Given the description of an element on the screen output the (x, y) to click on. 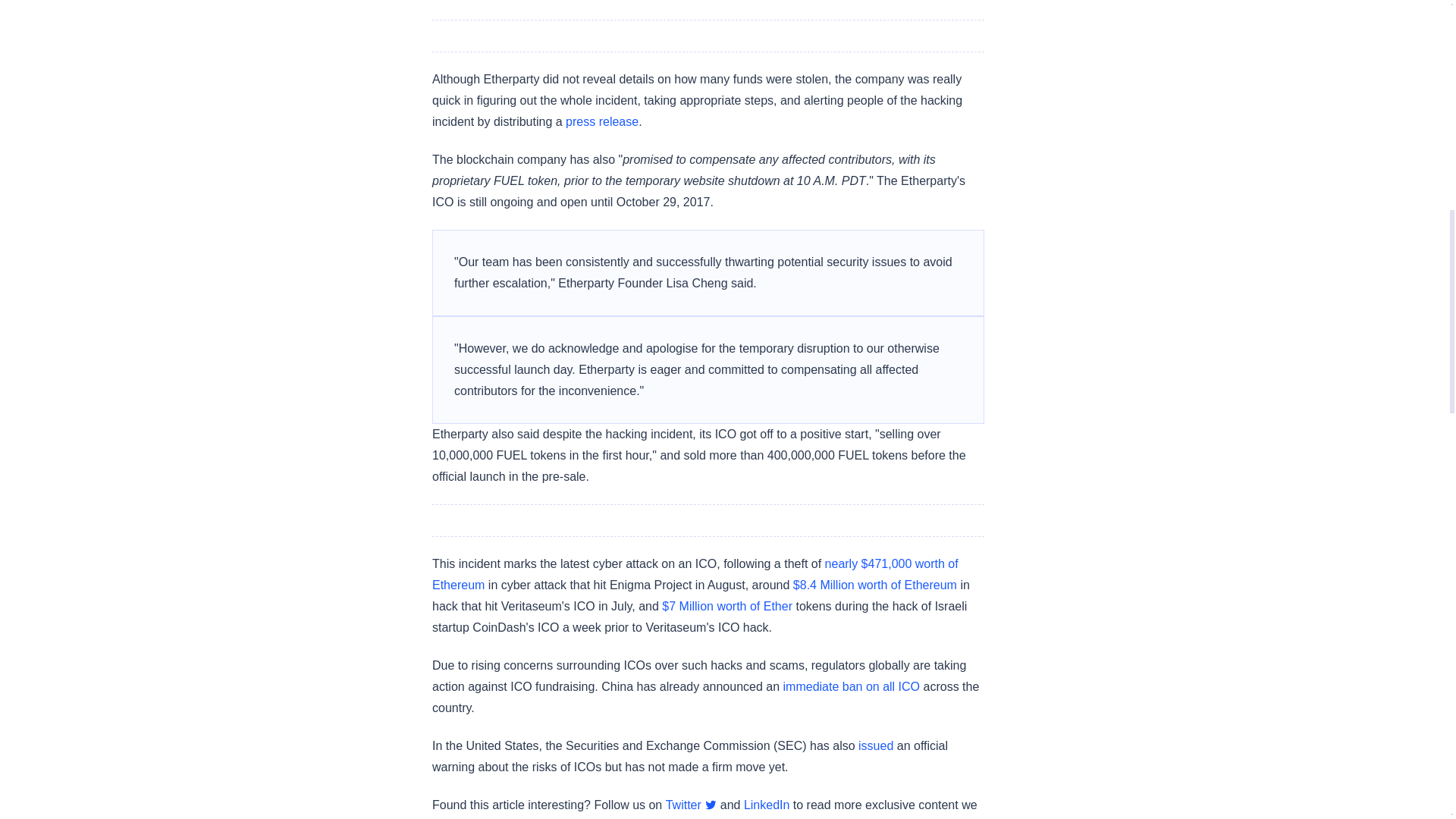
press release (602, 121)
